Given the description of an element on the screen output the (x, y) to click on. 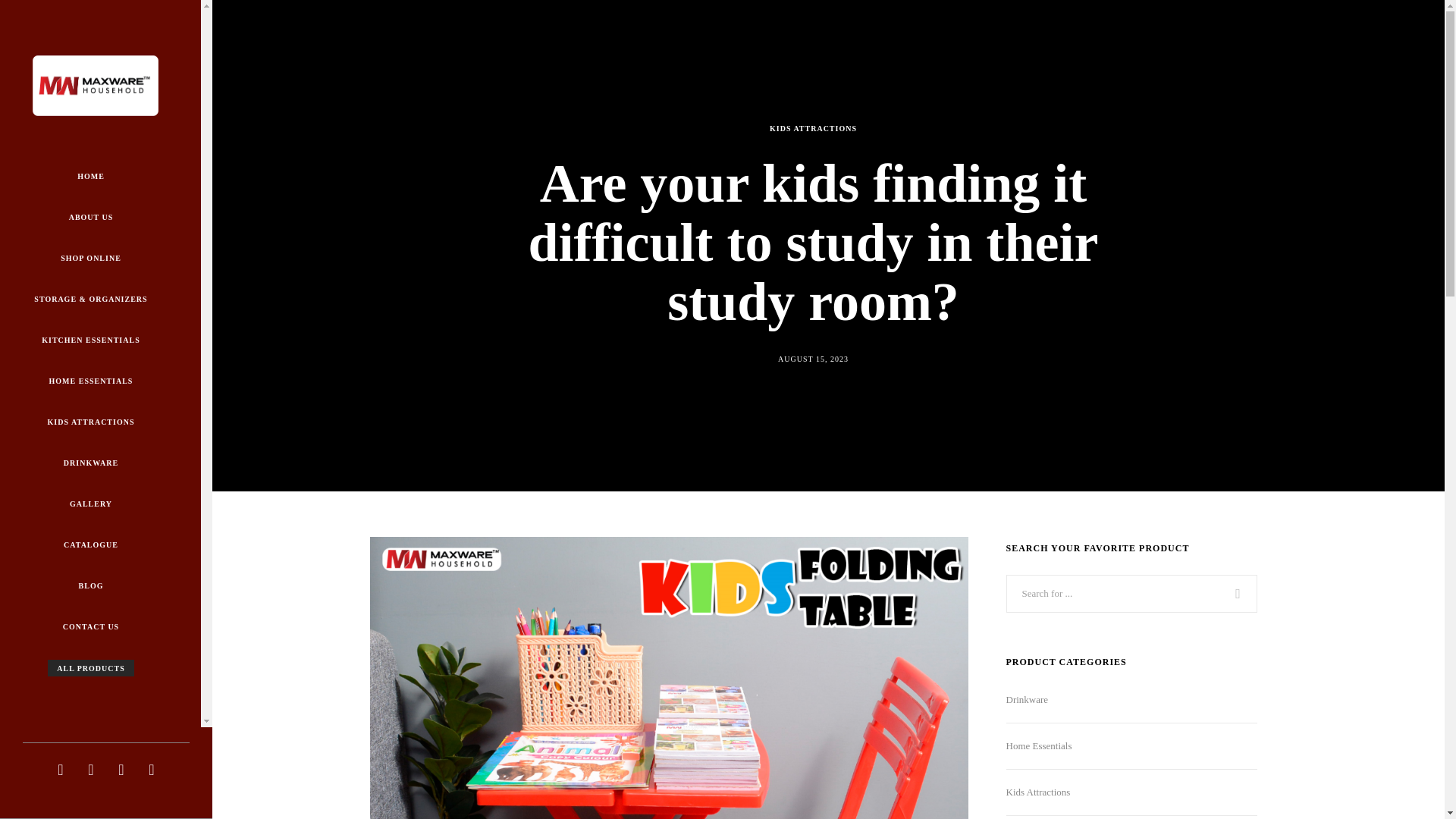
Drinkware (1027, 699)
HOME ESSENTIALS (90, 381)
HOME (90, 176)
KIDS ATTRACTIONS (90, 422)
Kids Attractions (1038, 792)
CATALOGUE (90, 545)
CONTACT US (90, 627)
KIDS ATTRACTIONS (813, 128)
SHOP ONLINE (90, 258)
BLOG (90, 586)
ABOUT US (90, 217)
ALL PRODUCTS (90, 668)
GALLERY (90, 504)
KITCHEN ESSENTIALS (90, 340)
Home Essentials (1038, 745)
